Given the description of an element on the screen output the (x, y) to click on. 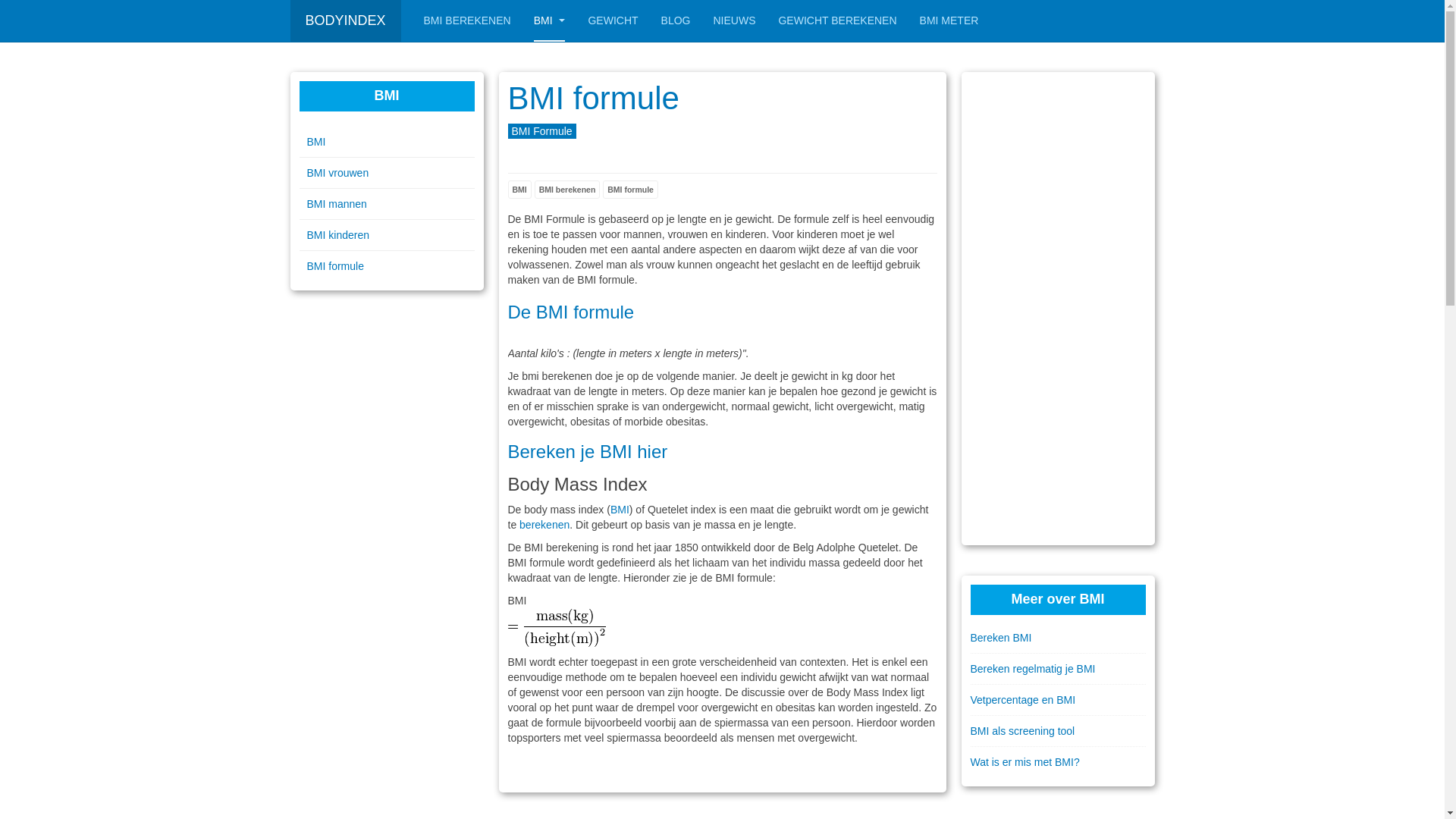
Bereken regelmatig je BMI Element type: text (1057, 668)
BLOG Element type: text (675, 20)
BMI berekenen Element type: text (567, 189)
NIEUWS Element type: text (733, 20)
berekenen Element type: text (544, 524)
BMI Element type: text (549, 20)
Vetpercentage en BMI Element type: text (1057, 699)
GEWICHT Element type: text (612, 20)
De BMI formule Element type: text (571, 311)
GEWICHT BEREKENEN Element type: text (837, 20)
BODYINDEX Element type: text (344, 20)
BMI Formule Element type: text (542, 130)
Advertisement Element type: hover (1057, 308)
BMI kinderen Element type: text (385, 234)
Bereken BMI Element type: text (1057, 637)
BMI METER Element type: text (949, 20)
BMI formule Element type: text (385, 266)
BMI formule Element type: text (593, 98)
BMI als screening tool Element type: text (1057, 730)
BMI Element type: text (385, 141)
BMI mannen Element type: text (385, 203)
Wat is er mis met BMI? Element type: text (1057, 761)
BMI vrouwen Element type: text (385, 172)
BMI Element type: text (519, 189)
BMI formule Element type: text (630, 189)
Bereken je BMI hier Element type: text (588, 451)
BMI BEREKENEN Element type: text (467, 20)
BMI Element type: text (619, 509)
